Given the description of an element on the screen output the (x, y) to click on. 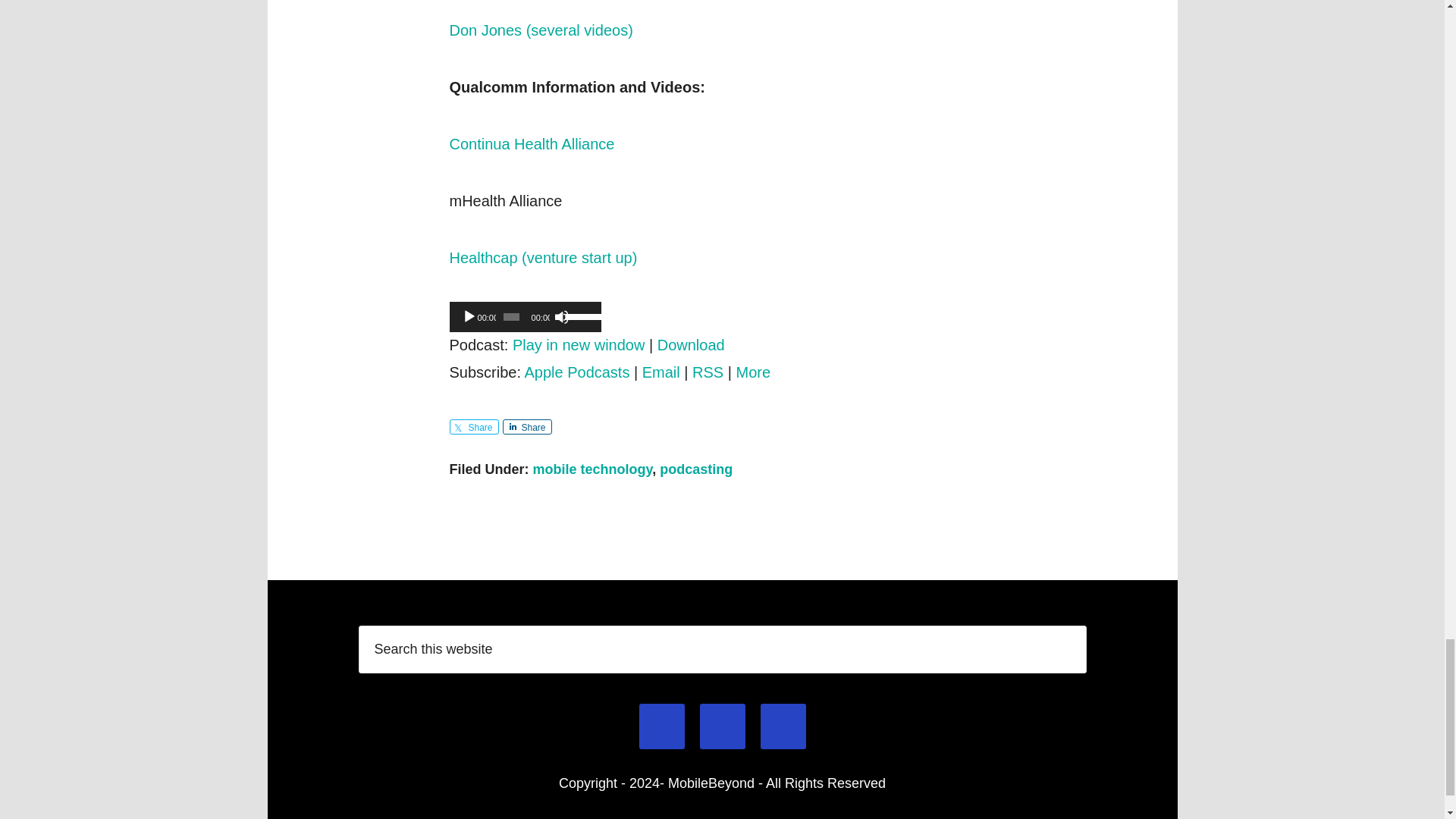
Email (661, 725)
Share (526, 426)
Continua Health Alliance (531, 143)
RSS (708, 371)
RSS (722, 725)
Don Jones videos (539, 30)
Healthcap (542, 257)
Twitter (782, 725)
Apple Podcasts (576, 371)
Play in new window (578, 343)
Share (472, 426)
Play (468, 315)
Download (691, 343)
podcasting (695, 468)
